Given the description of an element on the screen output the (x, y) to click on. 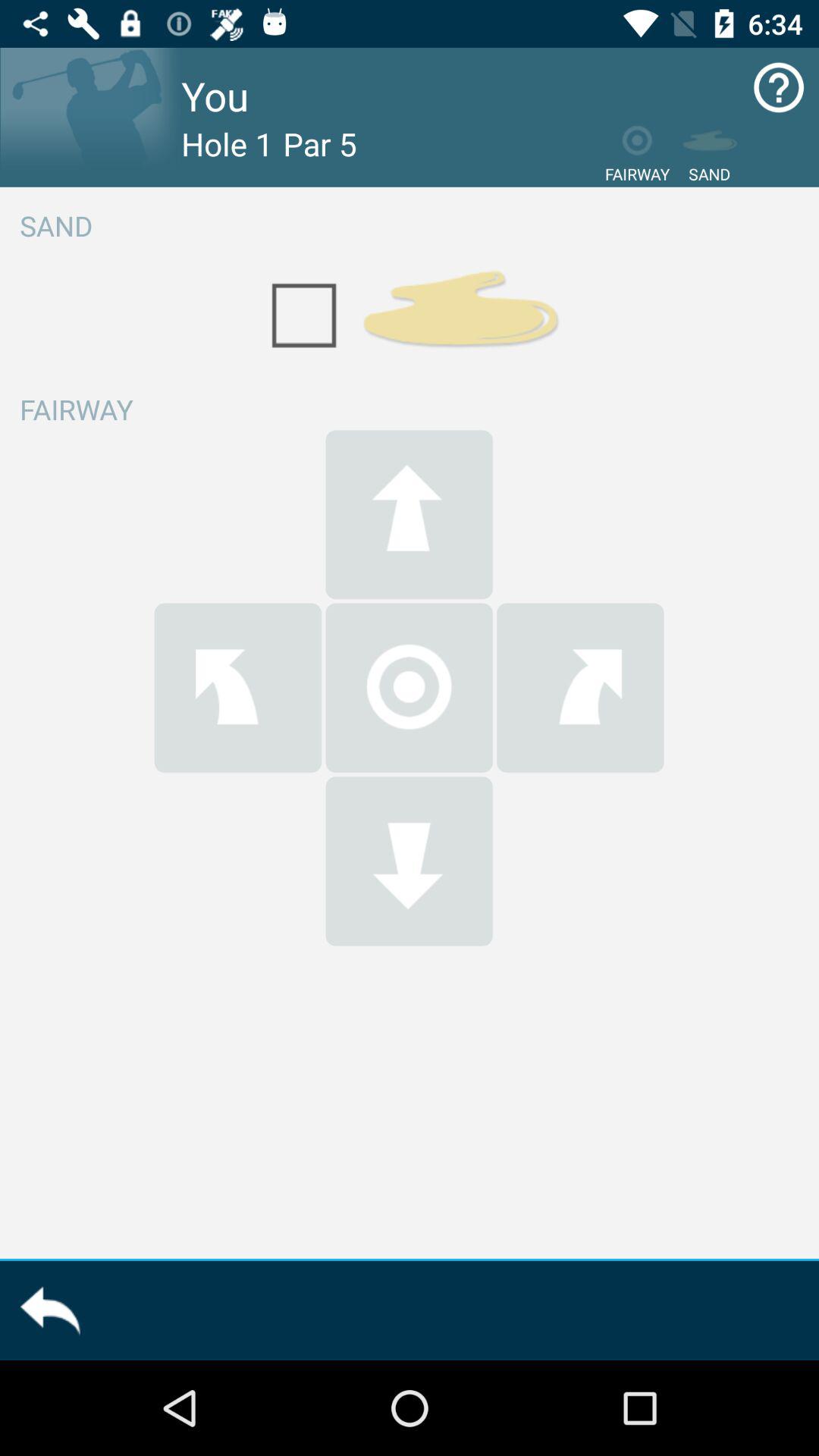
move forward (408, 514)
